Given the description of an element on the screen output the (x, y) to click on. 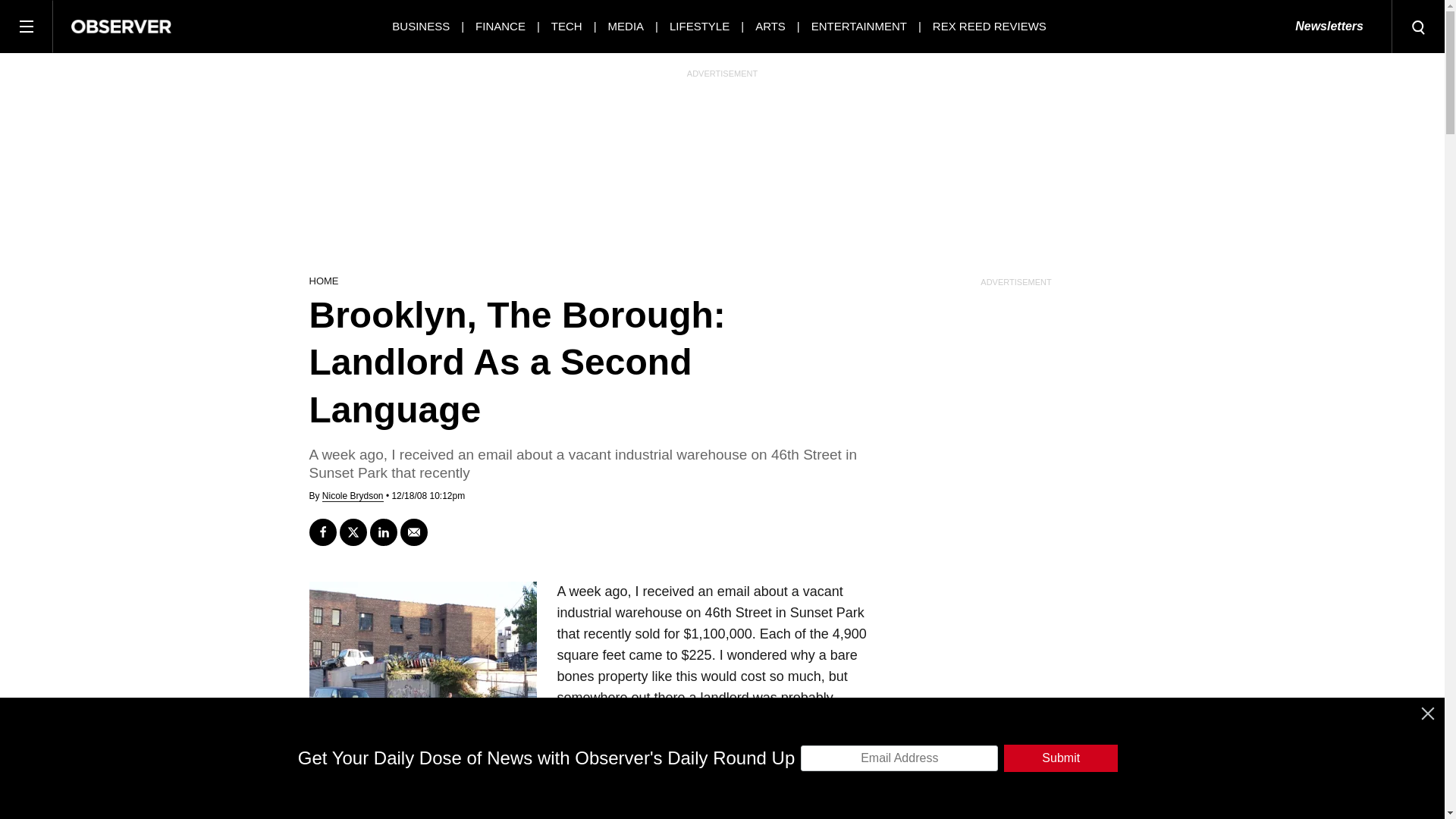
3rd party ad content (721, 170)
Share on LinkedIn (383, 532)
Tweet (352, 532)
View All Posts by Nicole Brydson (352, 496)
REX REED REVIEWS (989, 25)
Send email (414, 532)
LIFESTYLE (699, 25)
BUSINESS (420, 25)
MEDIA (626, 25)
Share on Facebook (322, 532)
TECH (566, 25)
ENTERTAINMENT (858, 25)
Observer (121, 26)
FINANCE (500, 25)
ARTS (770, 25)
